Given the description of an element on the screen output the (x, y) to click on. 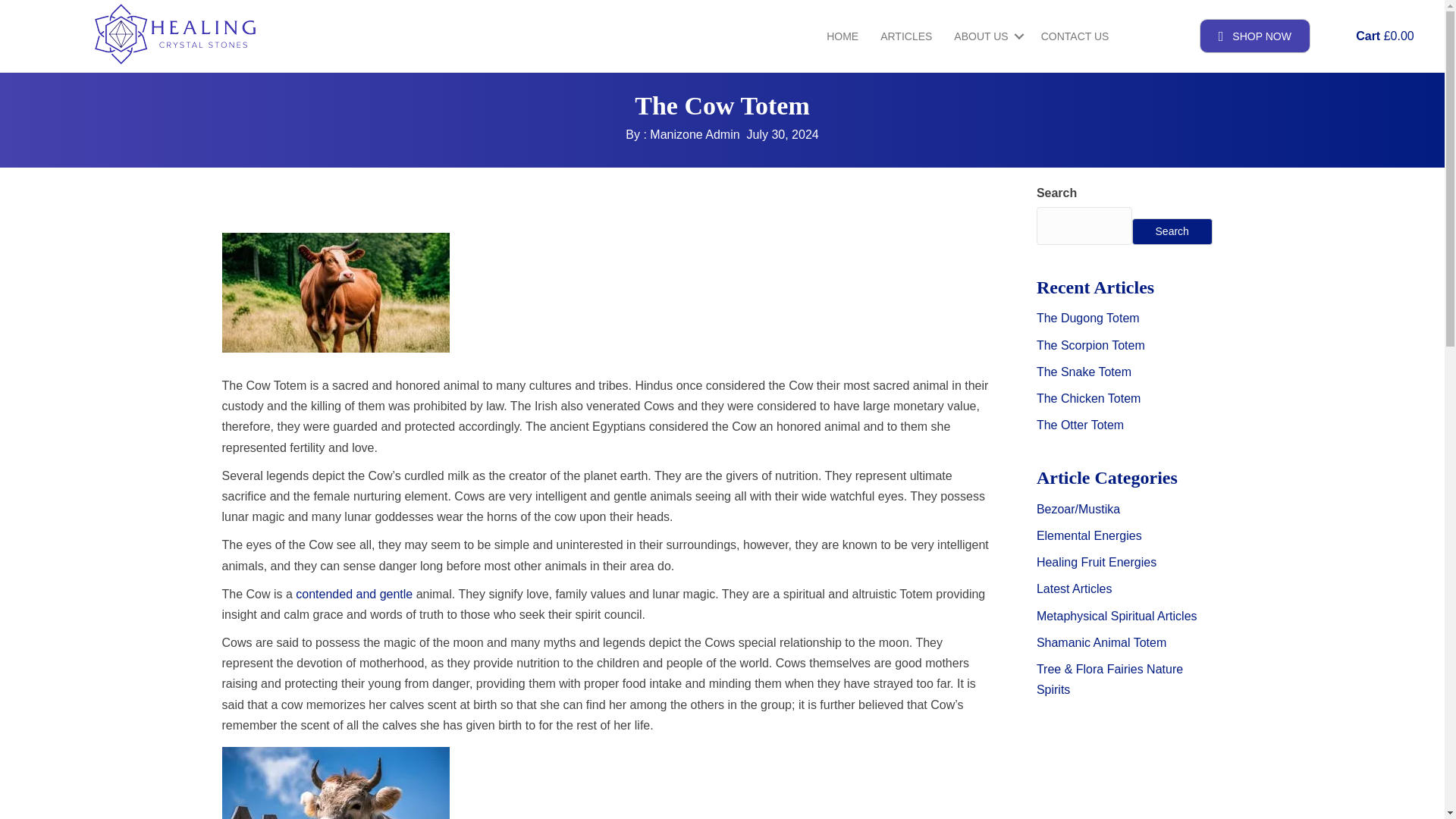
Click Here (1254, 35)
Healing Fruit Energies (1096, 562)
hcs-logo80 (175, 34)
ARTICLES (905, 35)
The Otter Totem (1080, 424)
CONTACT US (1074, 35)
Elemental Energies (1088, 535)
The Chicken Totem (1088, 398)
The Scorpion Totem (1090, 345)
HOME (842, 35)
